Given the description of an element on the screen output the (x, y) to click on. 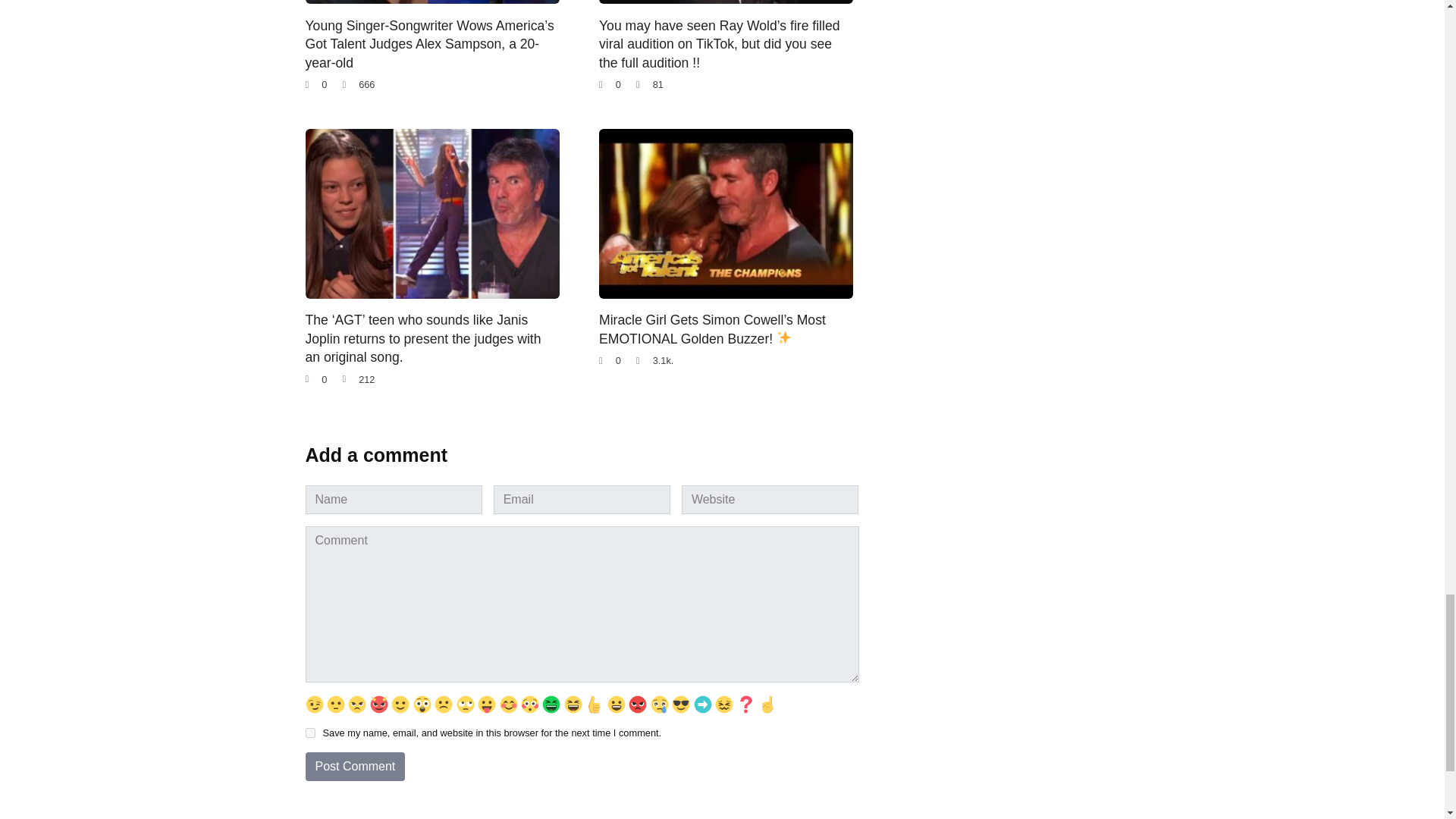
Post Comment (354, 766)
Post Comment (354, 766)
yes (309, 732)
